Given the description of an element on the screen output the (x, y) to click on. 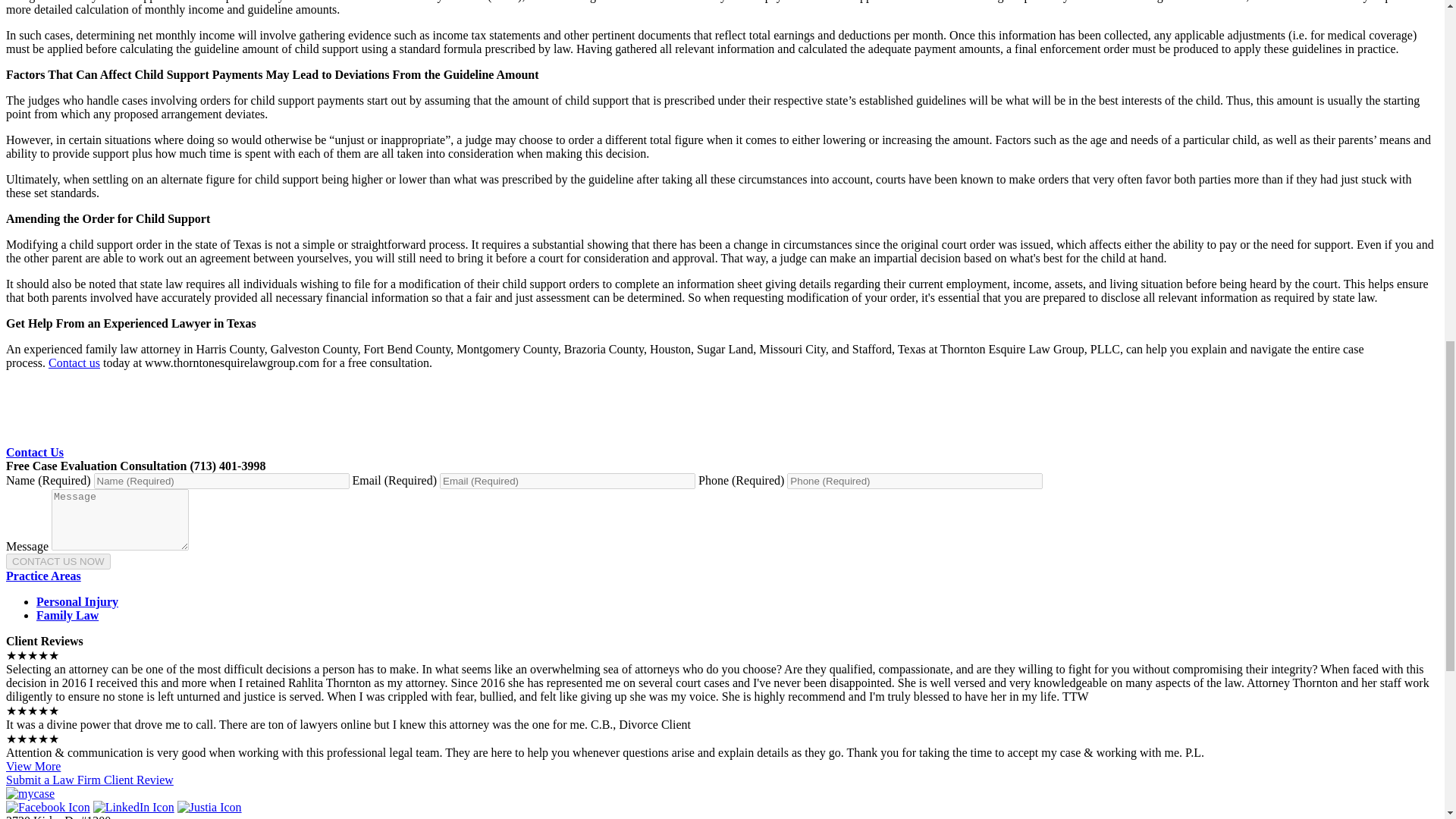
LinkedIn (133, 807)
Personal Injury (76, 601)
CONTACT US NOW (57, 561)
Submit a Law Firm Client Review (89, 779)
Contact us (74, 362)
Family Law (67, 615)
View More (33, 766)
Practice Areas (43, 575)
Facebook (47, 807)
Justia (209, 807)
Contact Us (34, 451)
